Given the description of an element on the screen output the (x, y) to click on. 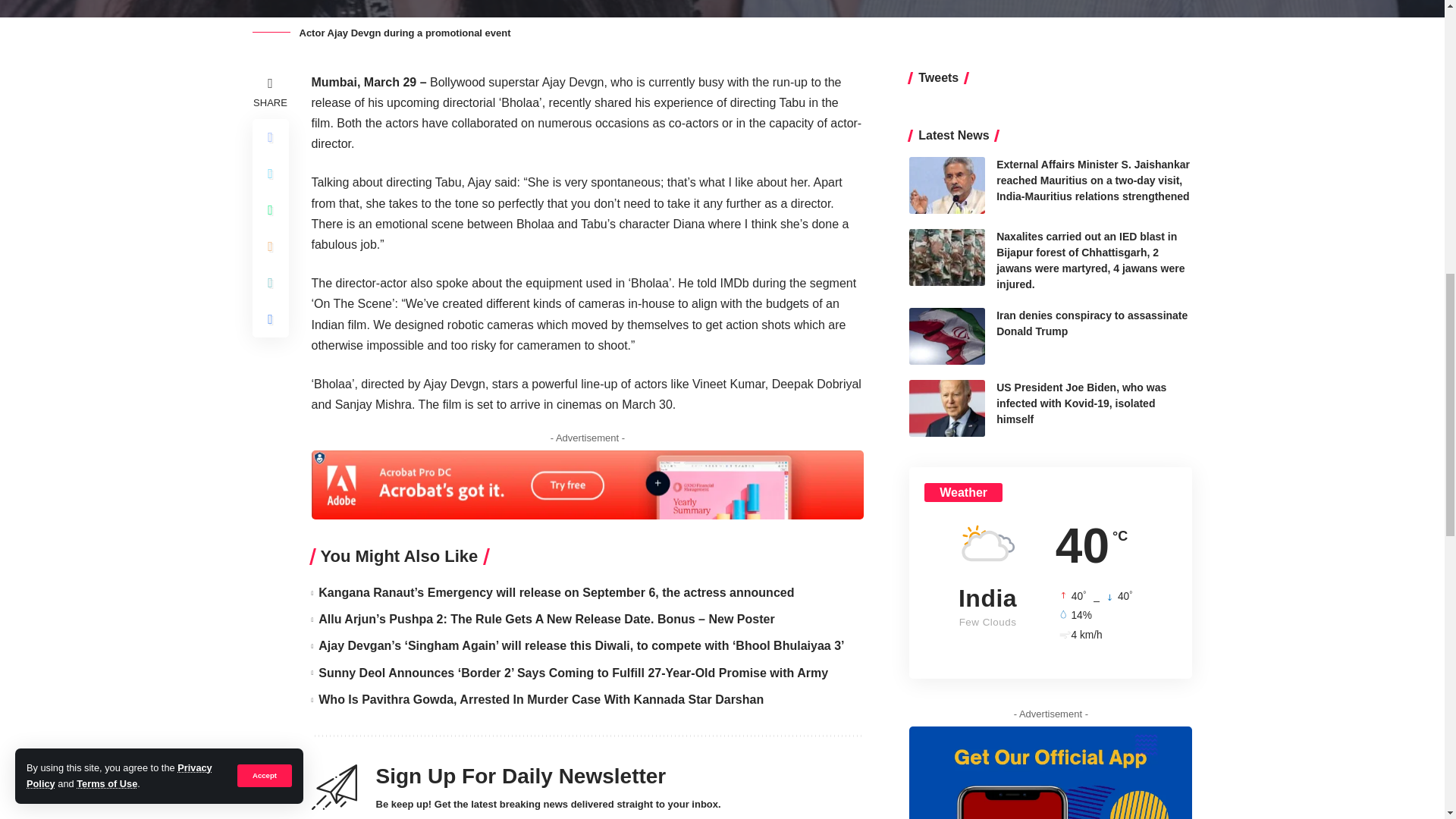
Iran denies conspiracy to assassinate Donald Trump (946, 335)
